Given the description of an element on the screen output the (x, y) to click on. 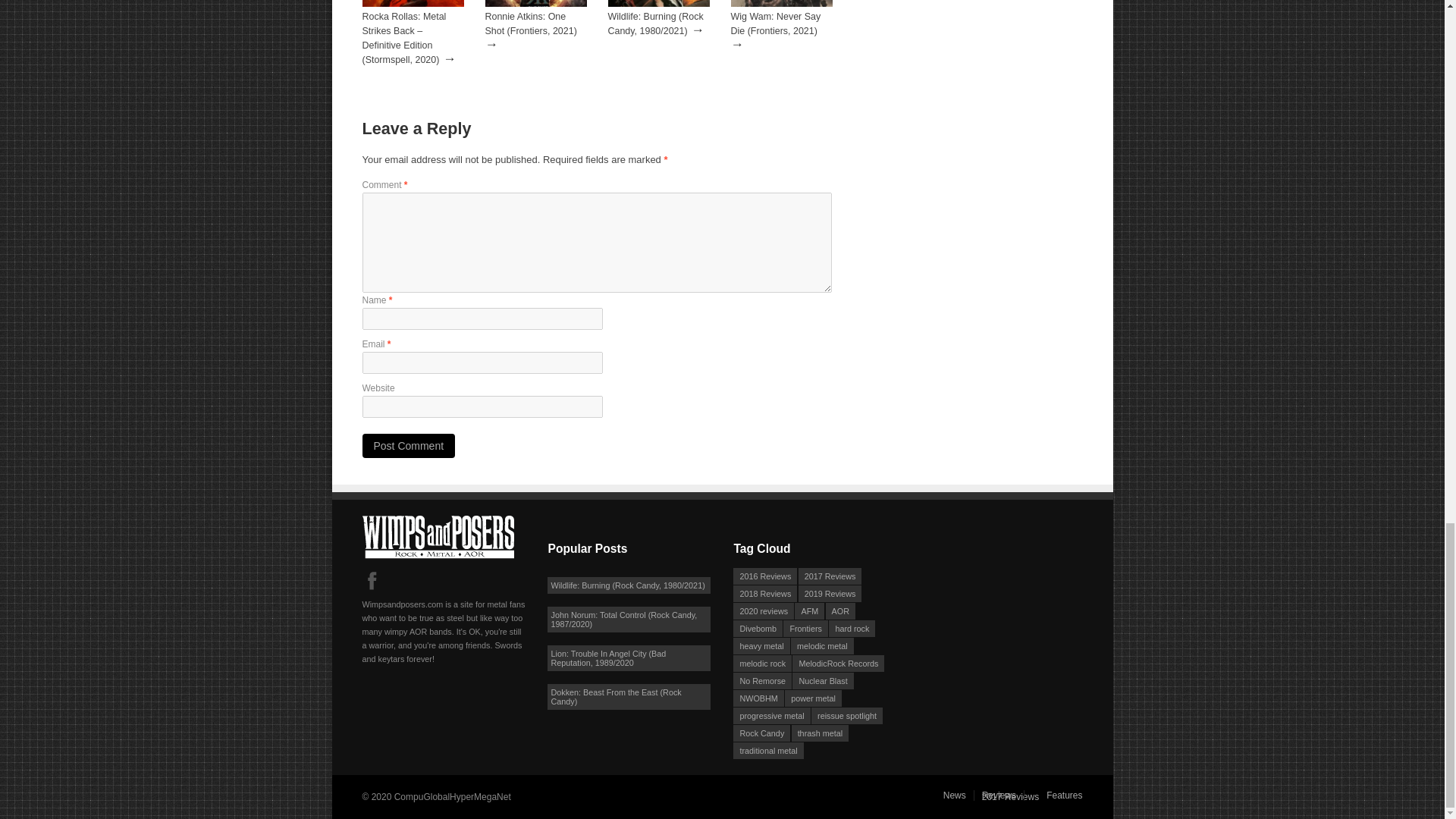
Post Comment (408, 445)
Post Comment (408, 445)
